Given the description of an element on the screen output the (x, y) to click on. 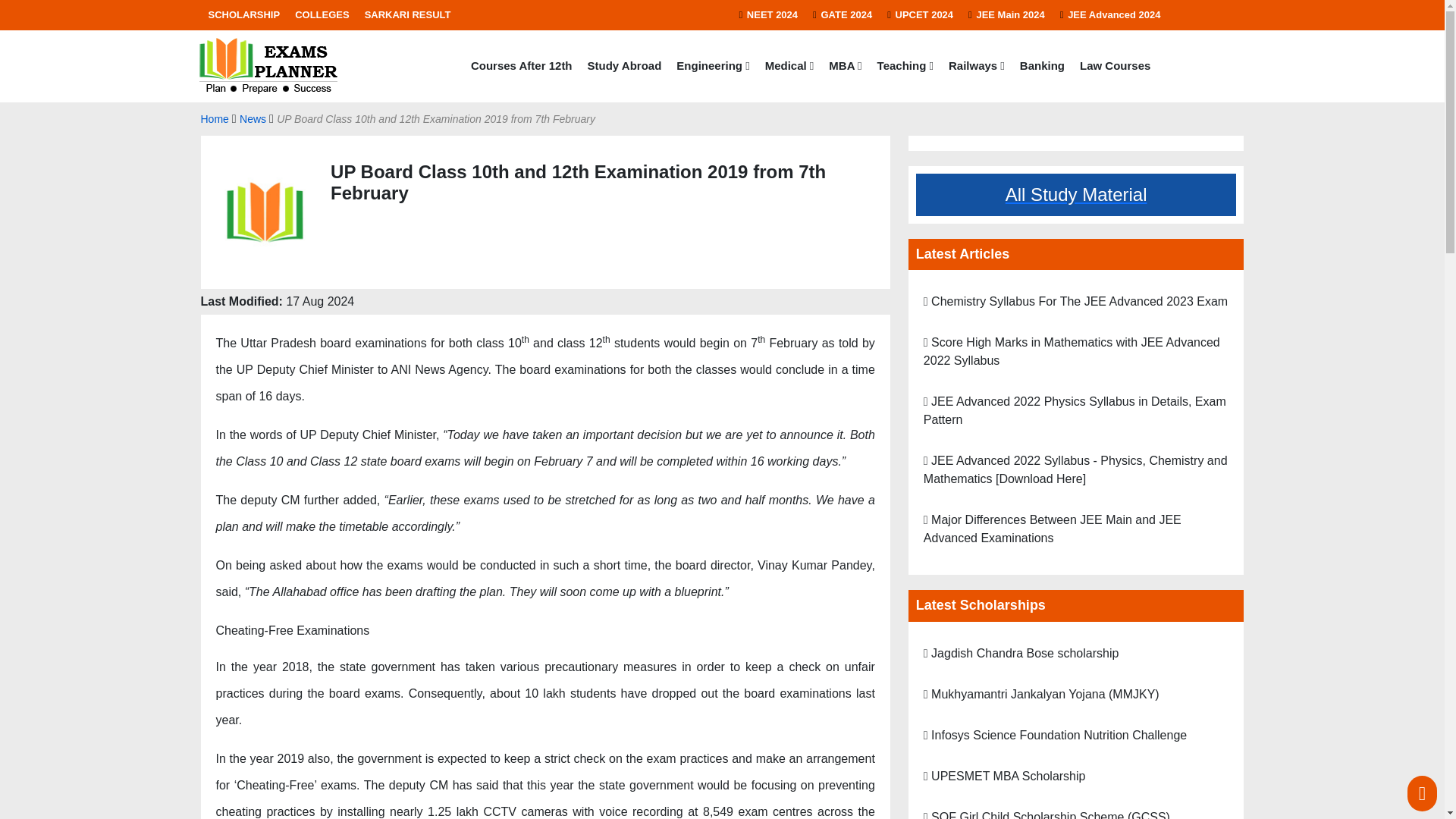
Medical (789, 65)
NEET 2024 (767, 15)
COLLEGES (321, 15)
Railways (975, 65)
SCHOLARSHIP (243, 15)
SARKARI RESULT (407, 15)
Courses After 12th (521, 65)
Teaching (904, 65)
UPCET 2024 (919, 15)
Study Abroad (624, 65)
